Given the description of an element on the screen output the (x, y) to click on. 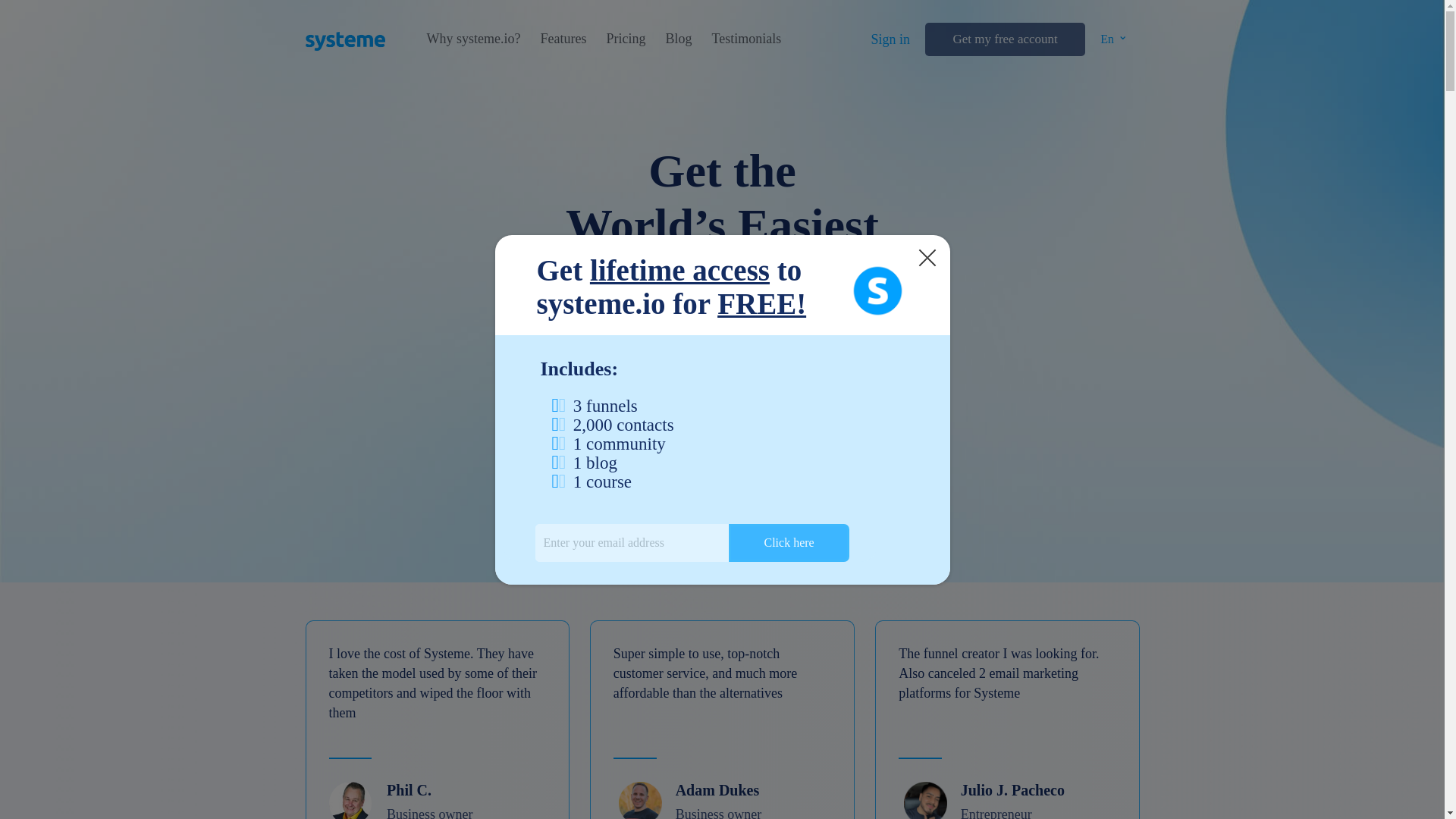
Blog (678, 38)
Why systeme.io? (472, 38)
Get my free account (1004, 39)
Pricing (625, 38)
Testimonials (745, 38)
Sign in (890, 39)
Features (563, 38)
